Given the description of an element on the screen output the (x, y) to click on. 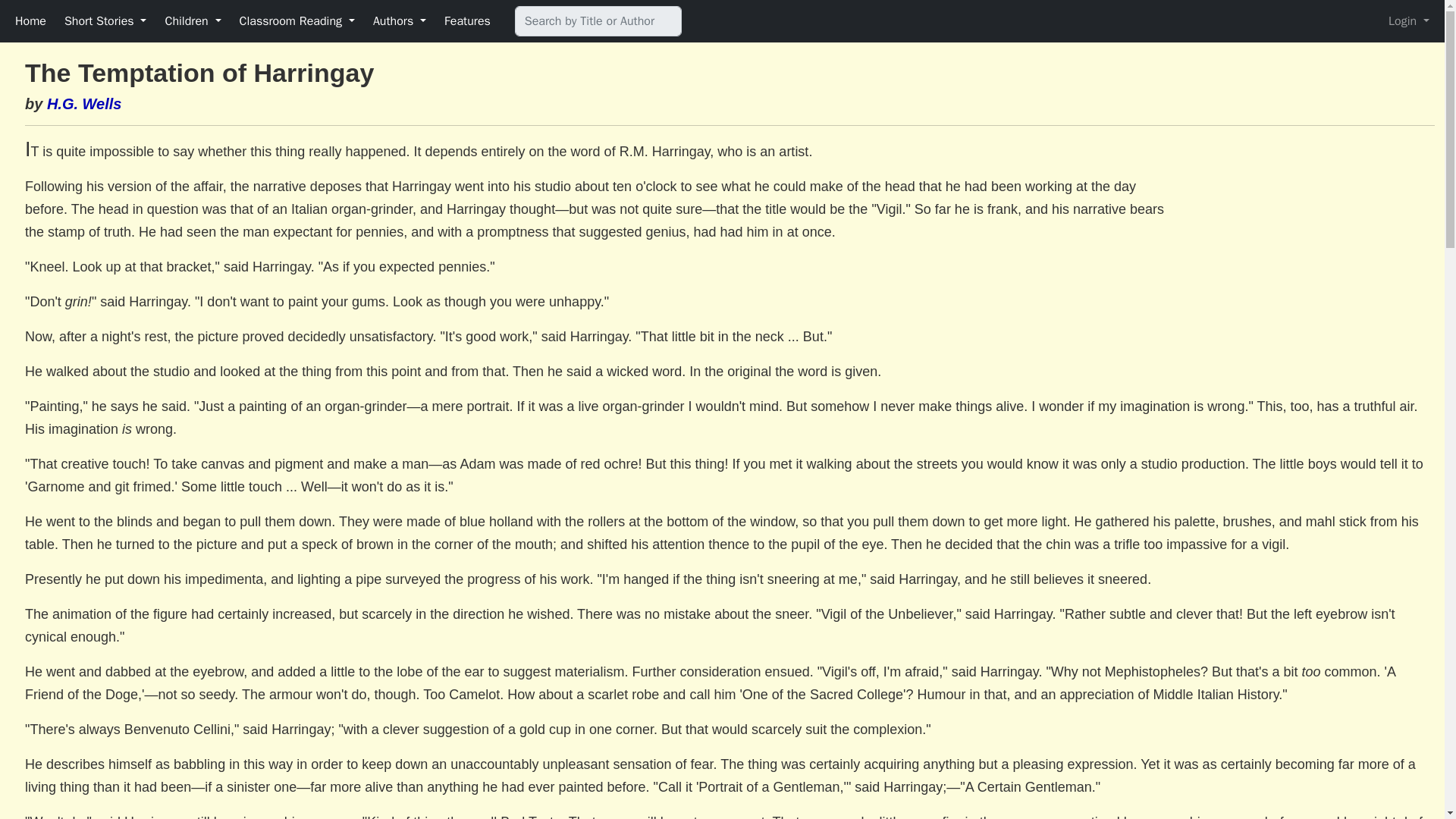
Home (30, 20)
Children (192, 20)
Advertisement (1306, 253)
Short Stories (105, 20)
